Given the description of an element on the screen output the (x, y) to click on. 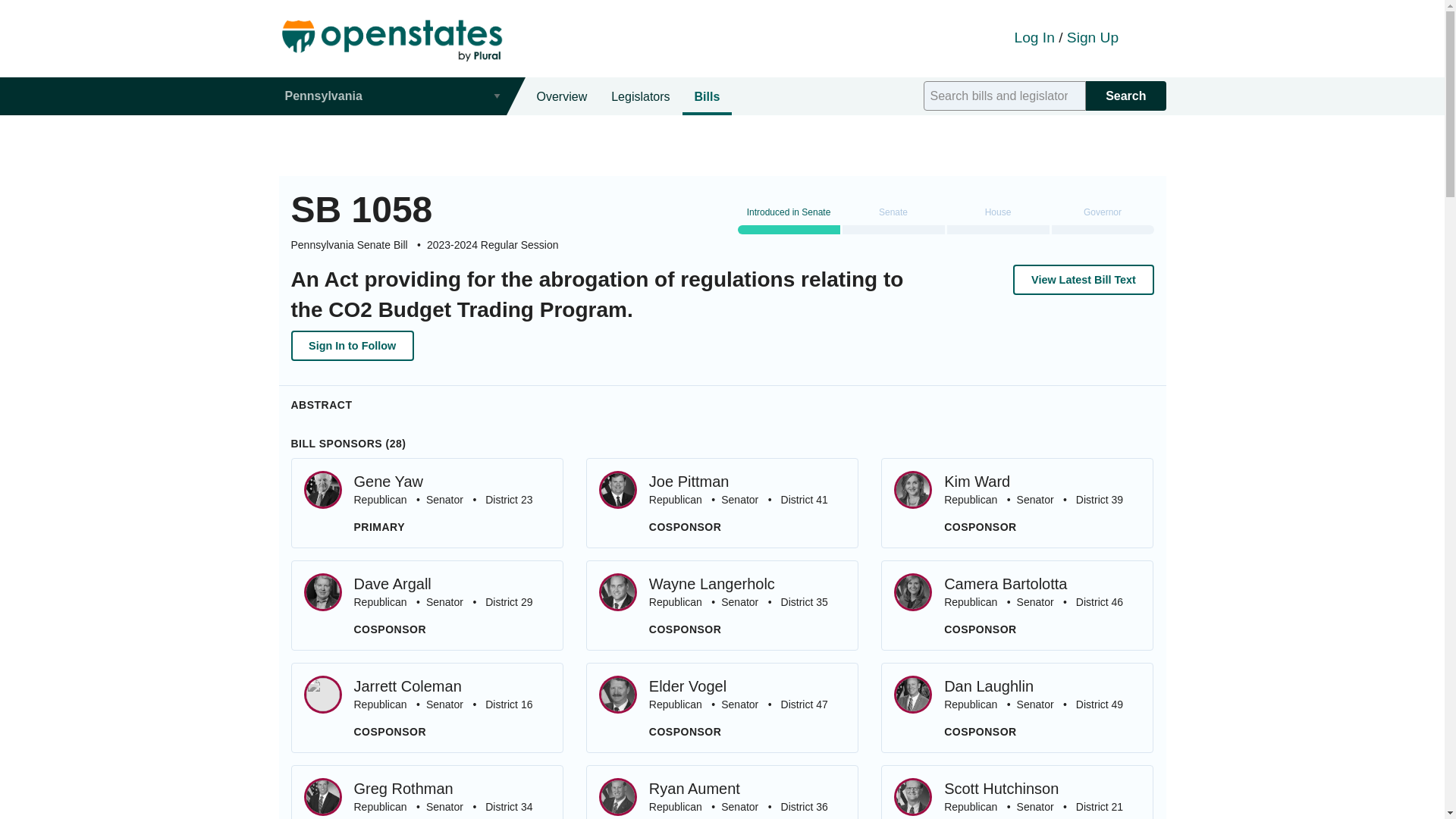
Bills (707, 95)
Sign In to Follow (722, 707)
Sign Up (352, 345)
Overview (1092, 37)
View Latest Bill Text (1016, 791)
Log In (722, 791)
